Given the description of an element on the screen output the (x, y) to click on. 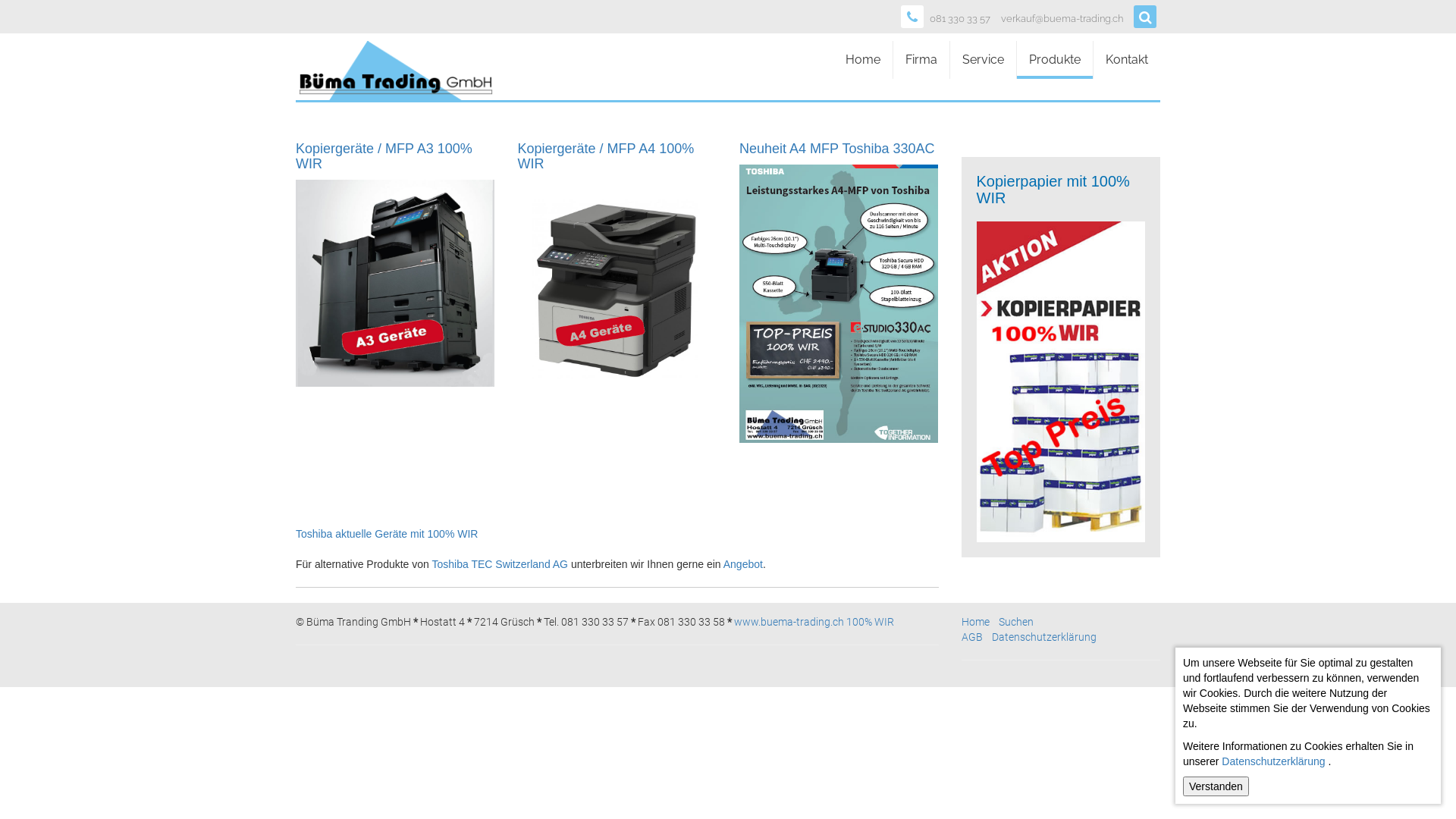
AGB Element type: text (971, 636)
Suchen Element type: text (1014, 621)
verkauf@buema-trading.ch Element type: text (1062, 19)
Home Element type: text (862, 59)
100% WIR Element type: text (870, 621)
Angebot Element type: text (742, 564)
Neuheit A4 MFP Toshiba 330AC Element type: text (837, 148)
www.buema-trading.ch Element type: text (789, 621)
Verstanden Element type: text (1215, 786)
Toshiba TEC Switzerland AG Element type: text (500, 564)
Home Element type: text (975, 621)
Firma Element type: text (921, 59)
Service Element type: text (983, 59)
Kontakt Element type: text (1126, 59)
Produkte Element type: text (1054, 59)
